Given the description of an element on the screen output the (x, y) to click on. 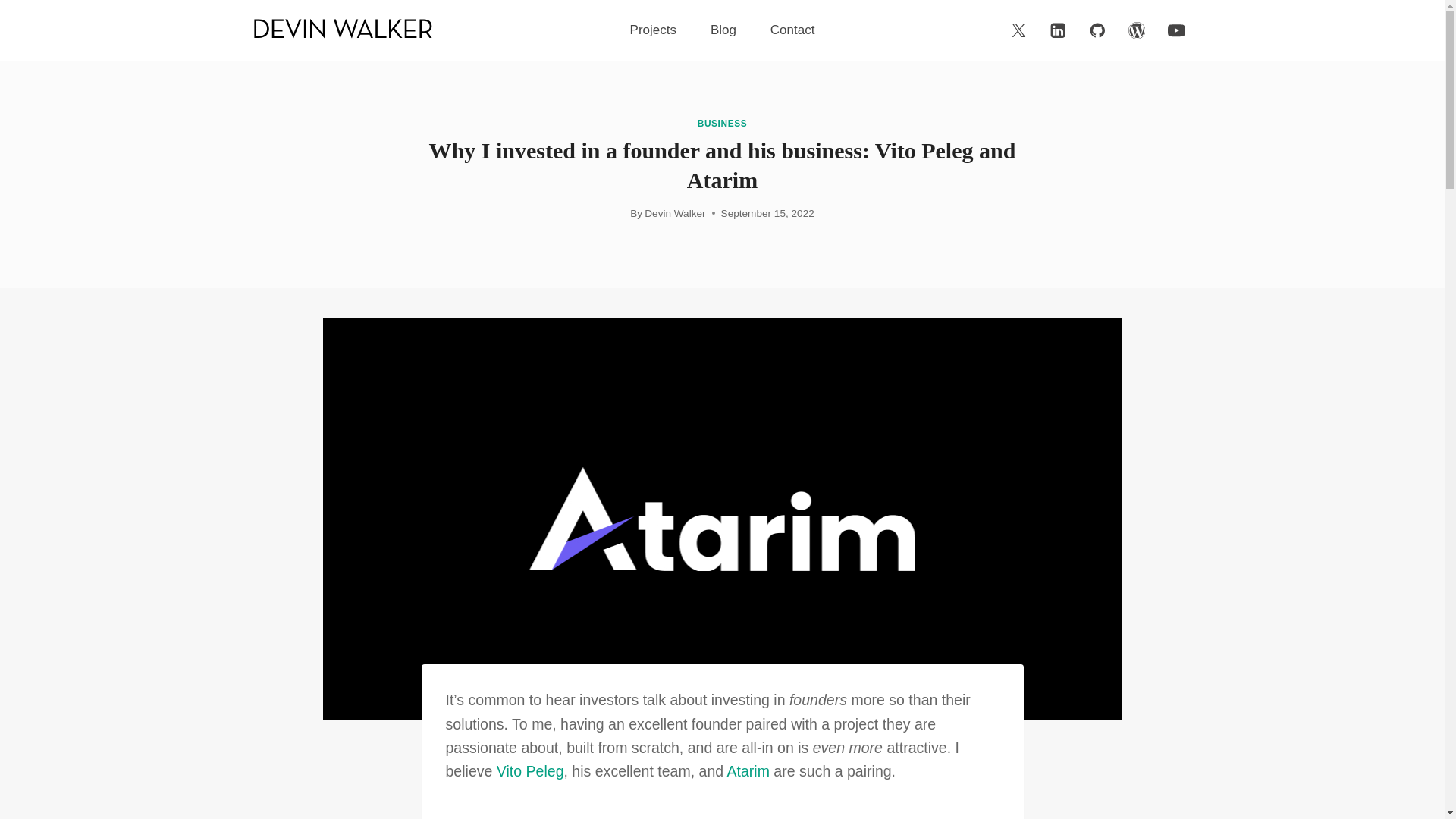
Projects (652, 30)
Devin Walker (674, 213)
BUSINESS (722, 122)
Atarim (747, 770)
Blog (722, 30)
Contact (791, 30)
Vito Peleg (530, 770)
